Given the description of an element on the screen output the (x, y) to click on. 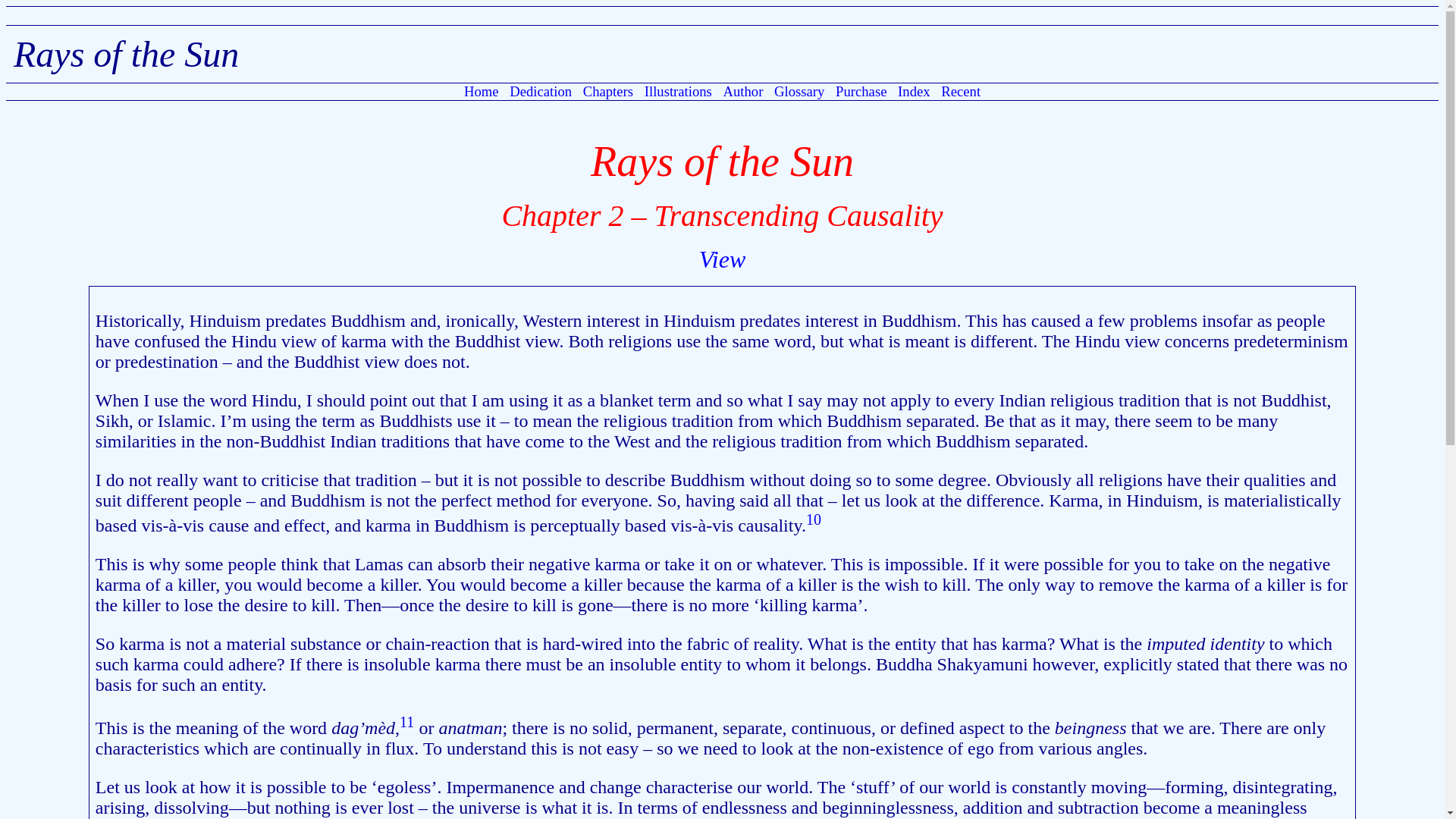
Dedication (540, 91)
Recent (960, 91)
Illustrations (678, 91)
Glossary (799, 91)
Author (743, 91)
Home (481, 91)
Index (913, 91)
Chapters (608, 91)
Purchase (860, 91)
